Given the description of an element on the screen output the (x, y) to click on. 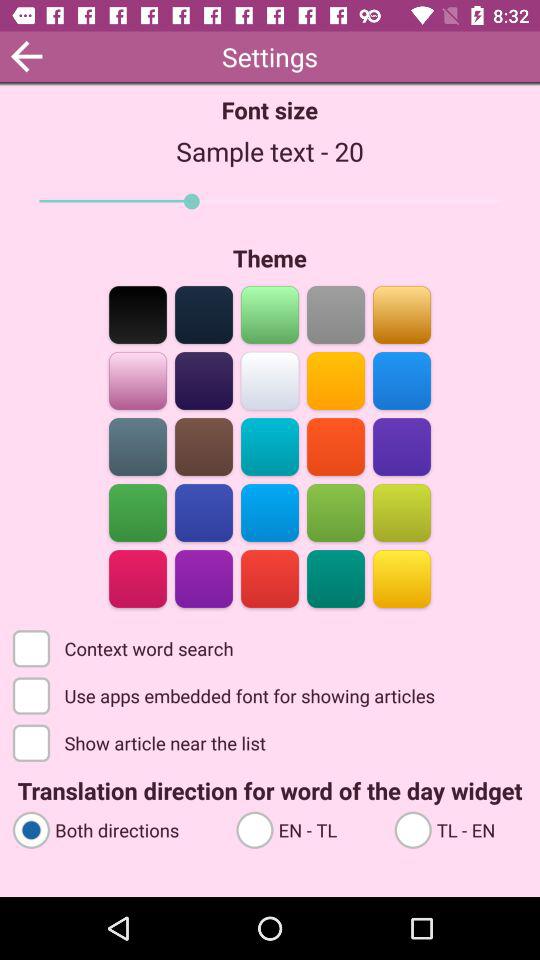
select color (137, 577)
